Given the description of an element on the screen output the (x, y) to click on. 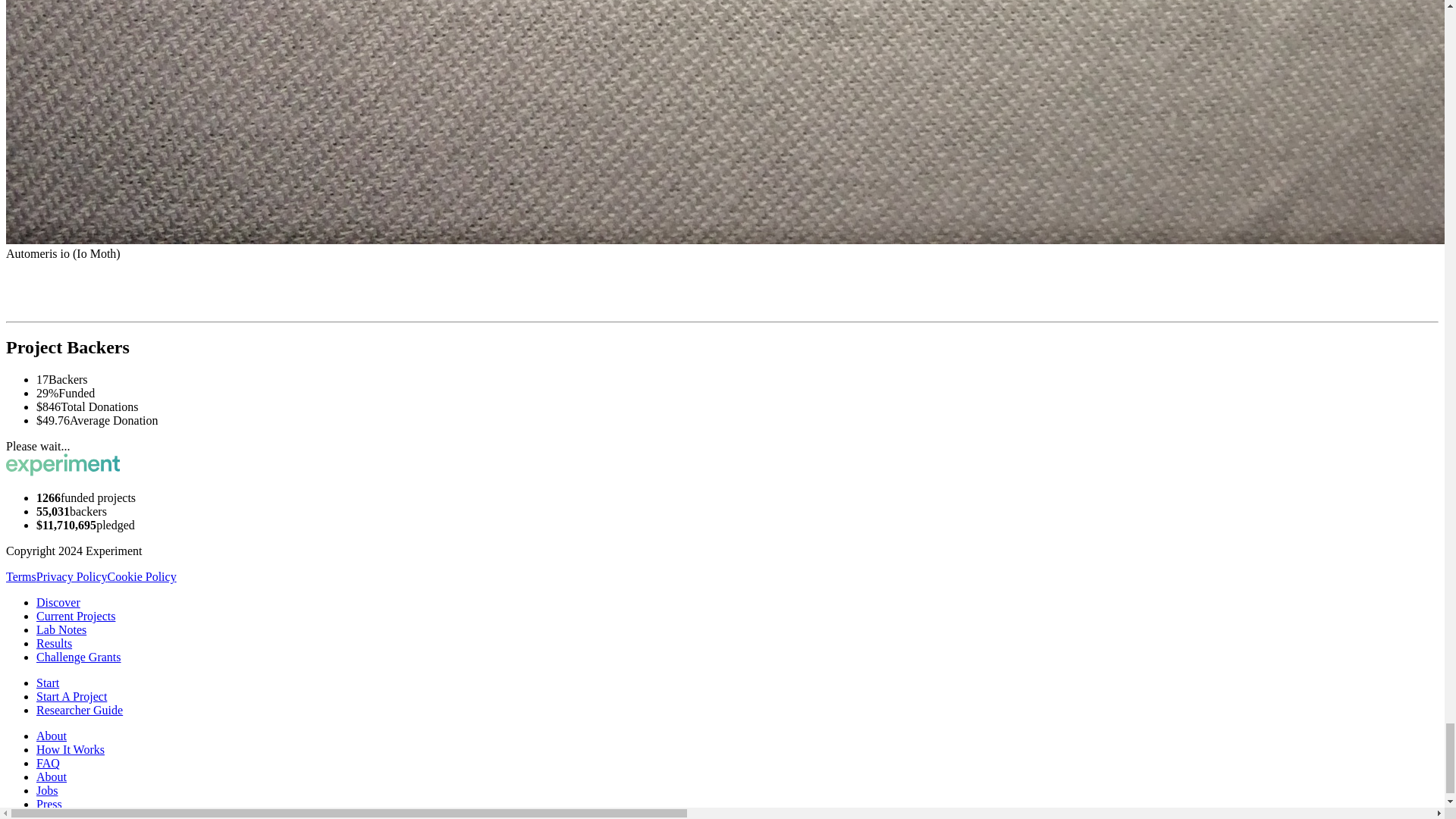
experiment 2 (62, 464)
